Given the description of an element on the screen output the (x, y) to click on. 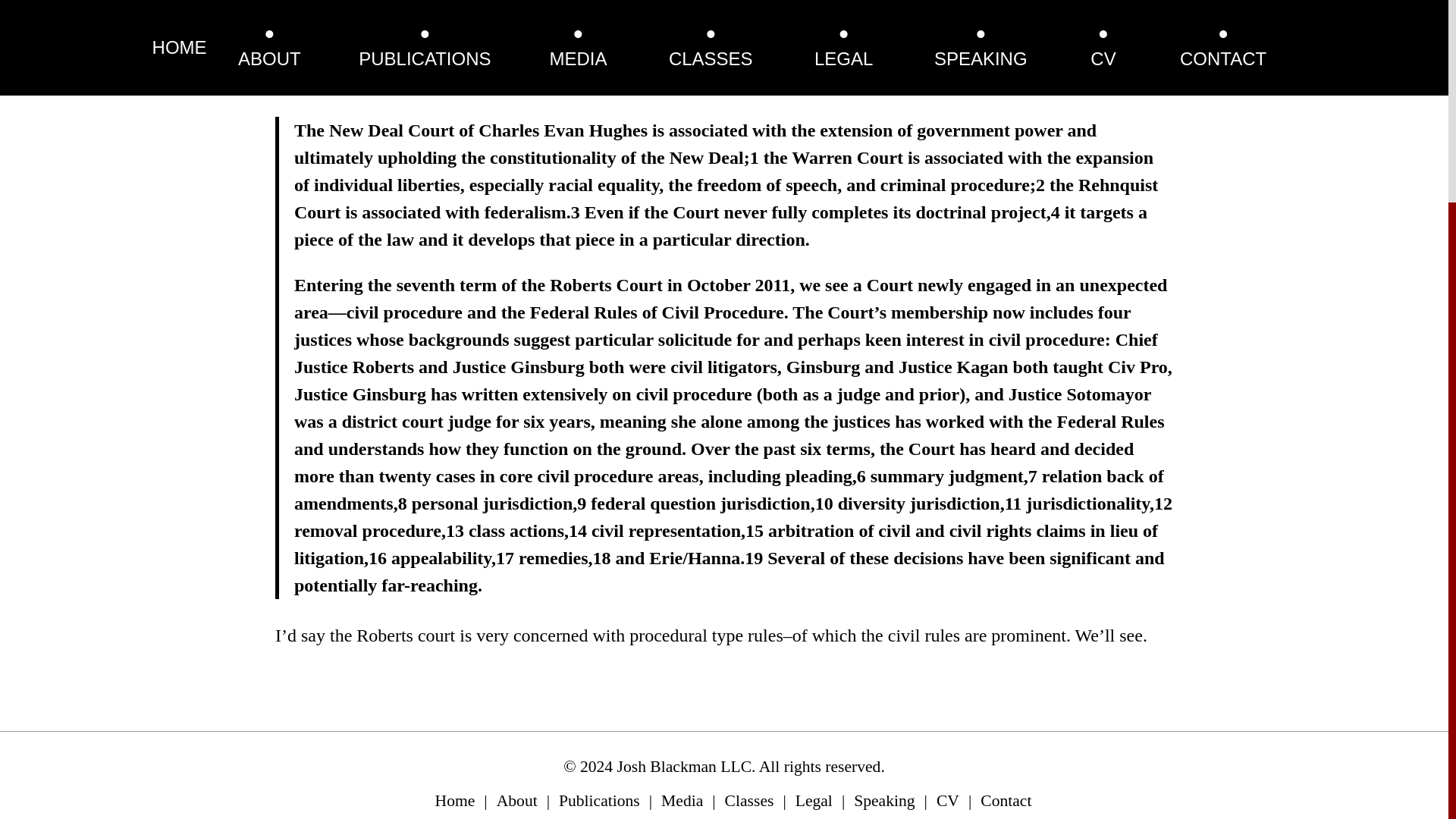
Contact (1004, 800)
Legal (813, 800)
Publications (599, 800)
Professor Wasserman (352, 85)
Media (682, 800)
Speaking (883, 800)
About (516, 800)
Home (455, 800)
CV (947, 800)
Classes (749, 800)
